Given the description of an element on the screen output the (x, y) to click on. 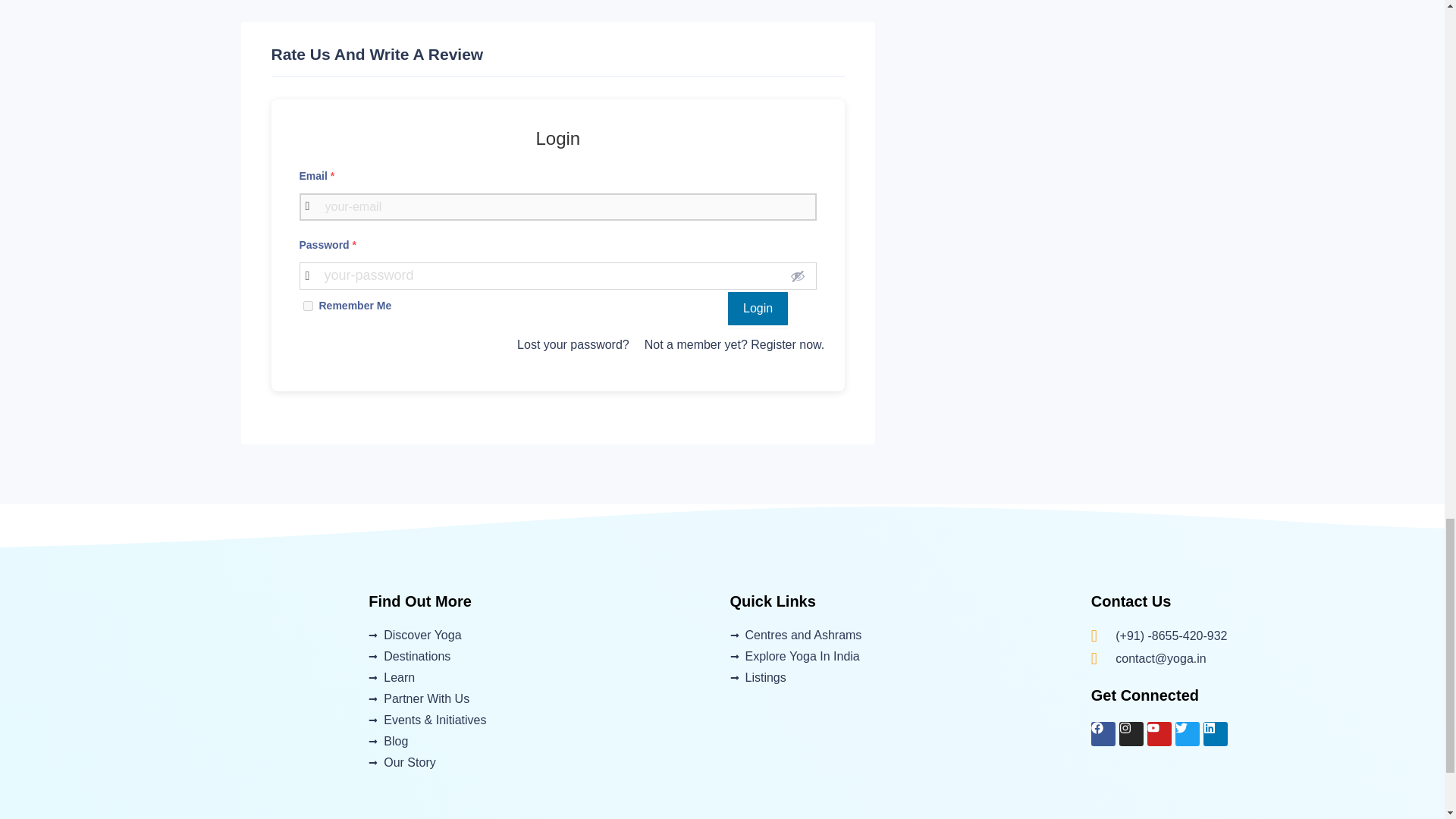
Lost your password? (572, 344)
Login (757, 308)
forever (307, 306)
Not a member yet? Register now. (734, 344)
Login (757, 308)
